Given the description of an element on the screen output the (x, y) to click on. 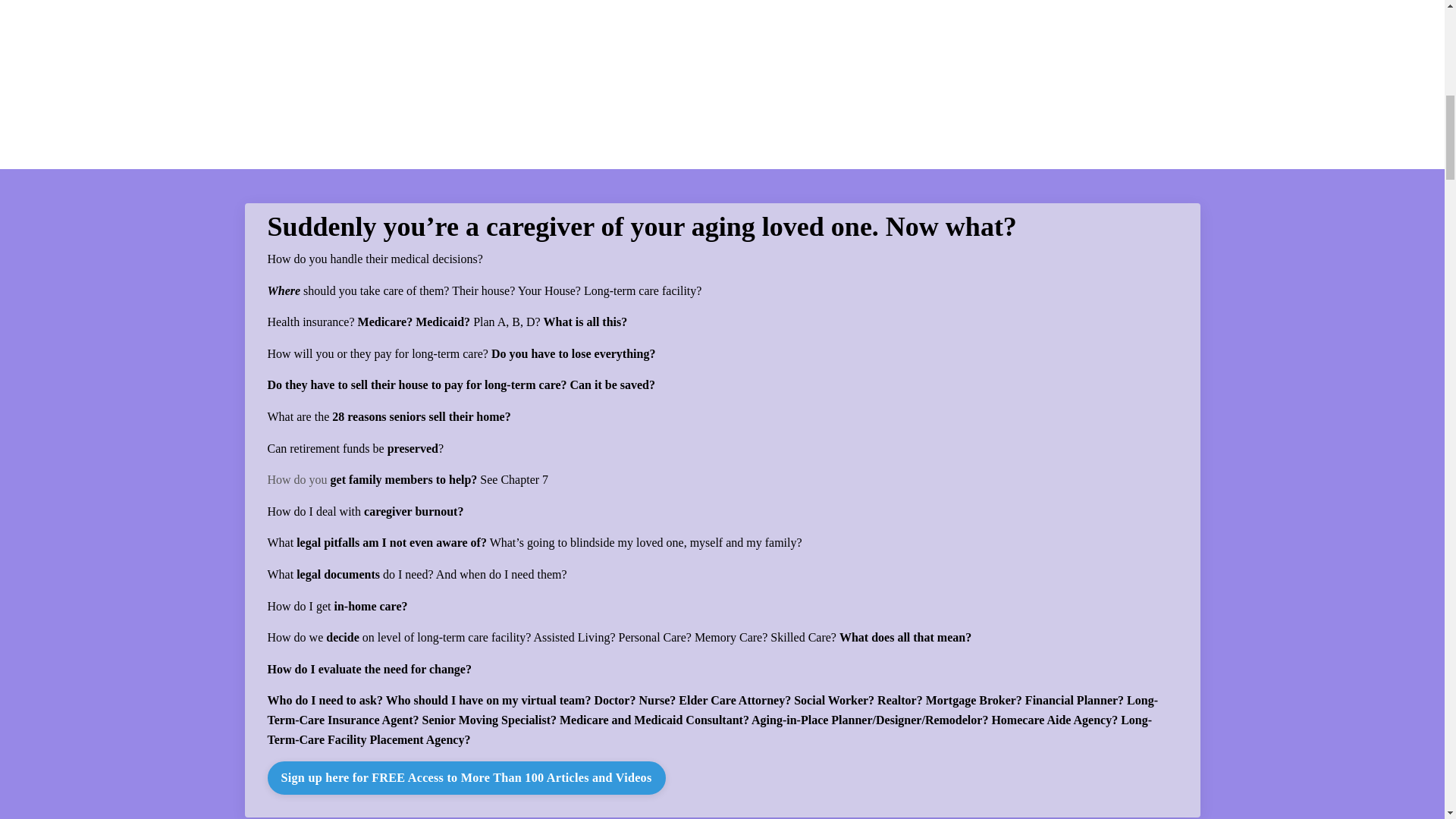
28 Reasons Seniors Sell Their Home (814, 46)
Schedule a FREE Call or Meeting with Dave Halpern, Realtor (1191, 109)
Questions That Seniors Ask About Real Estate (469, 109)
Already Registered? Click To Login (333, 46)
Need To Sell A Home? (1264, 47)
